Given the description of an element on the screen output the (x, y) to click on. 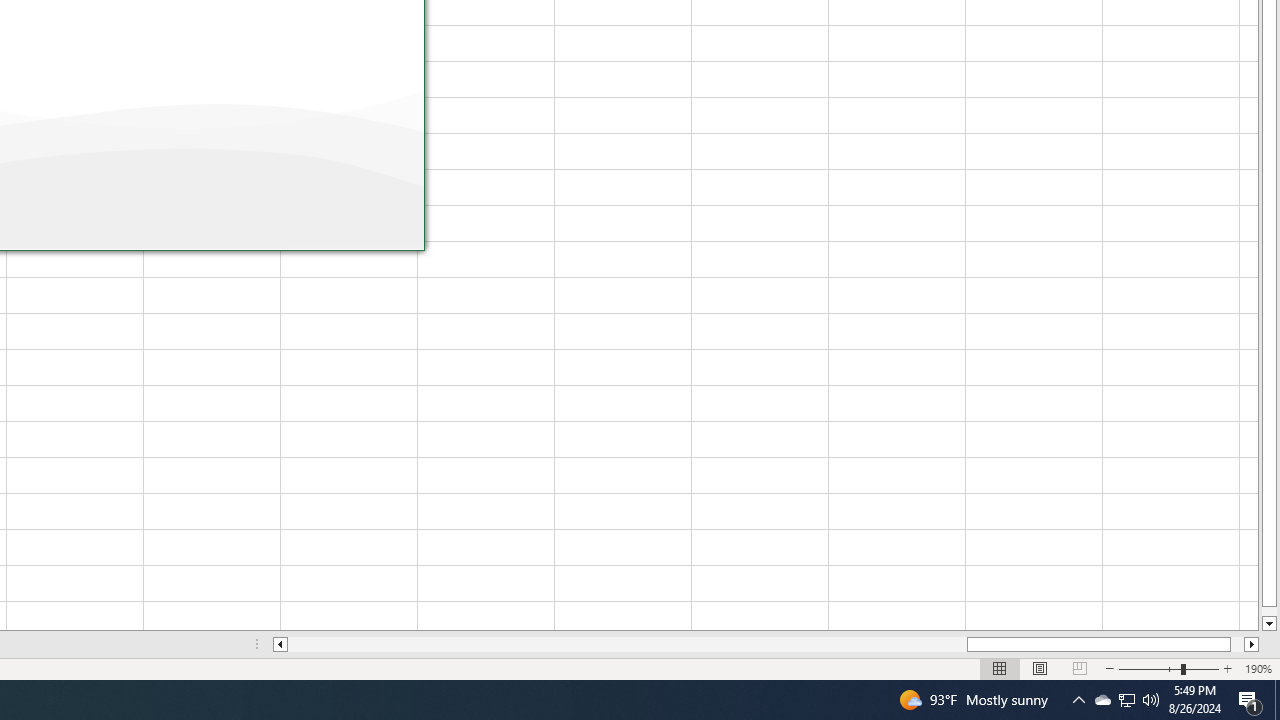
Page left (1126, 699)
Column left (627, 644)
Page Break Preview (279, 644)
Zoom Out (1079, 668)
Page down (1149, 668)
User Promoted Notification Area (1268, 611)
Column right (1126, 699)
Zoom (1252, 644)
Zoom In (1168, 668)
Q2790: 100% (1227, 668)
